Given the description of an element on the screen output the (x, y) to click on. 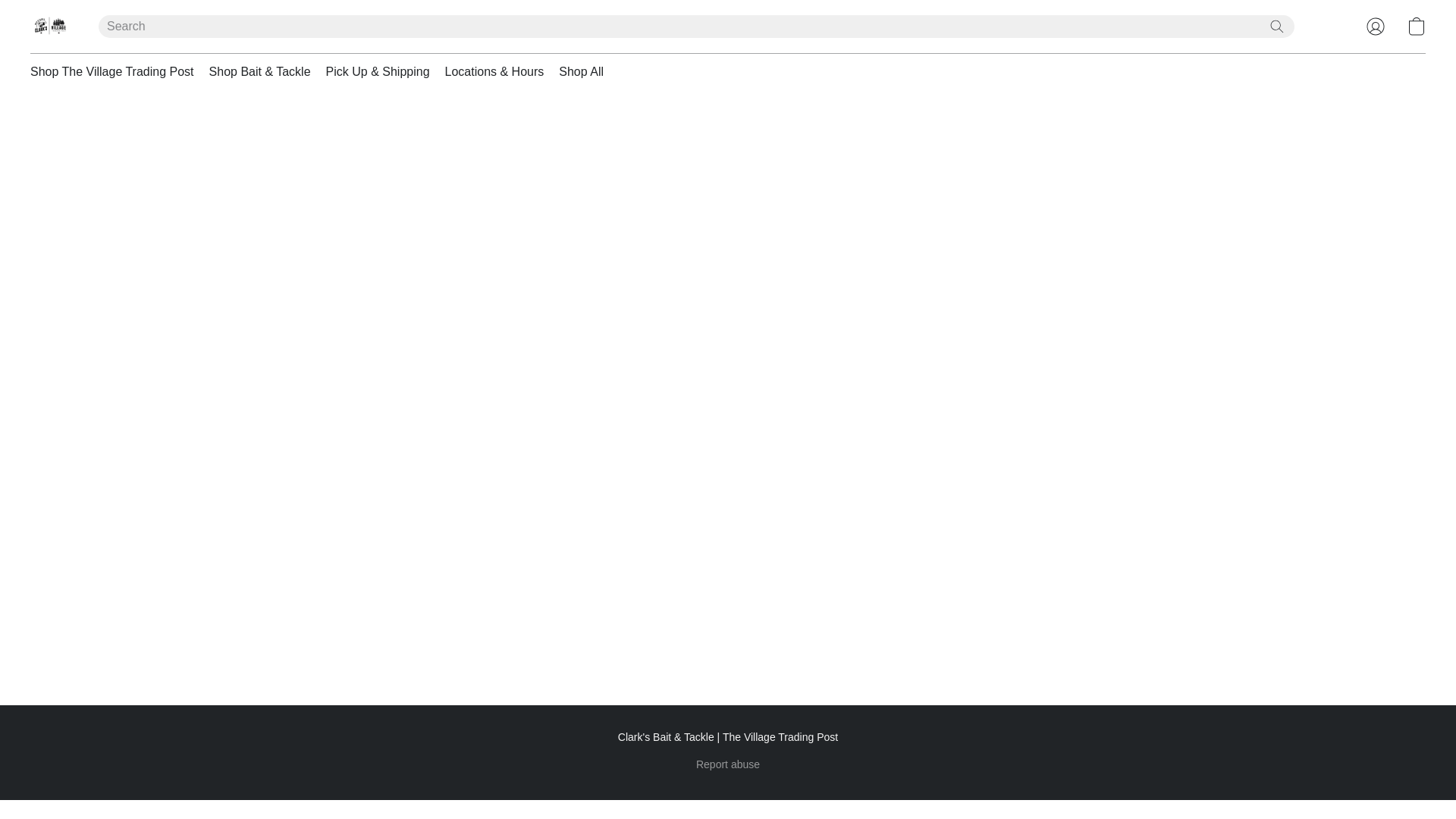
Report abuse (727, 764)
Shop The Village Trading Post (116, 71)
Shop All (577, 71)
Go to your shopping cart (1416, 26)
